Given the description of an element on the screen output the (x, y) to click on. 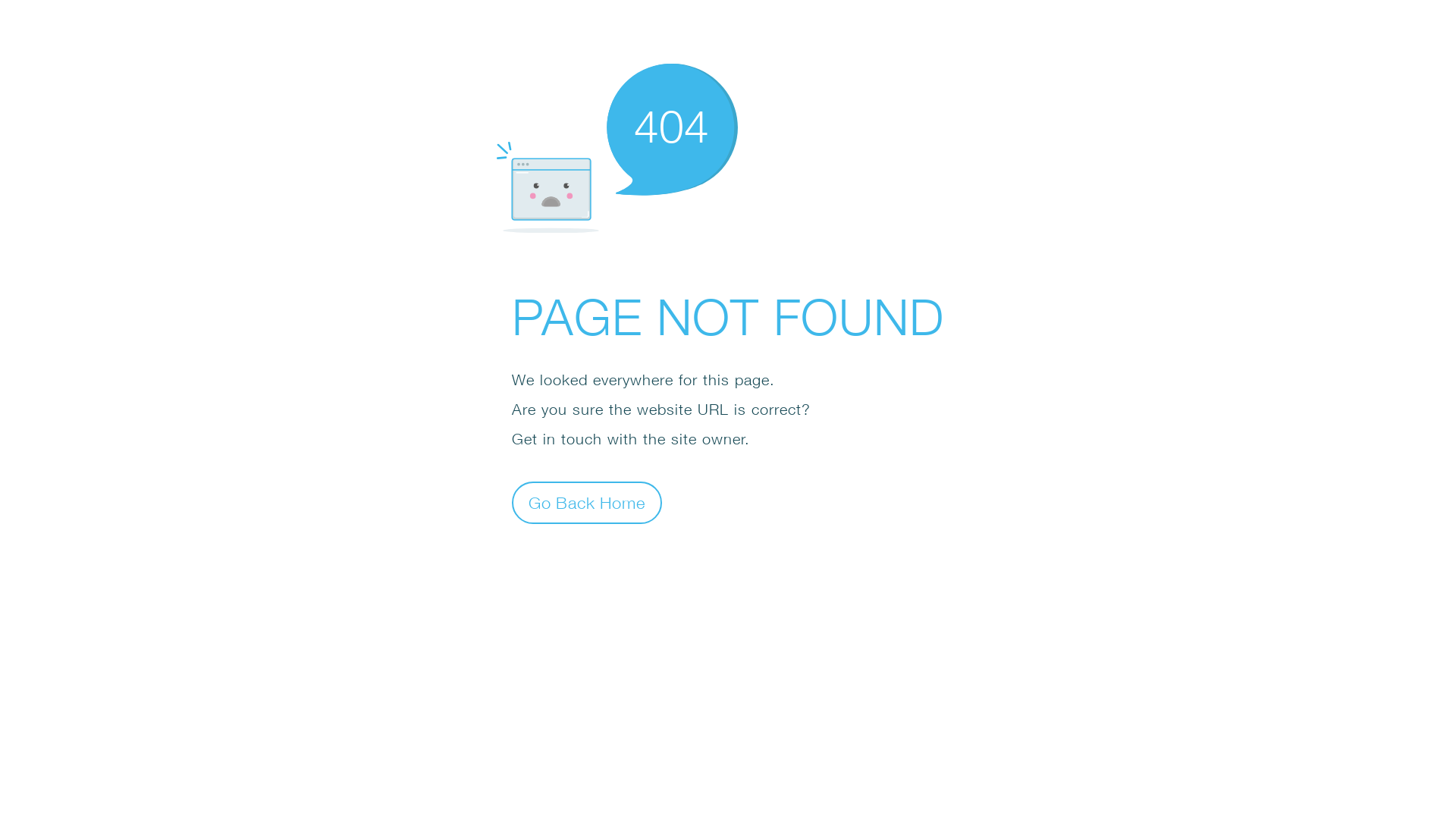
Go Back Home Element type: text (586, 502)
